Given the description of an element on the screen output the (x, y) to click on. 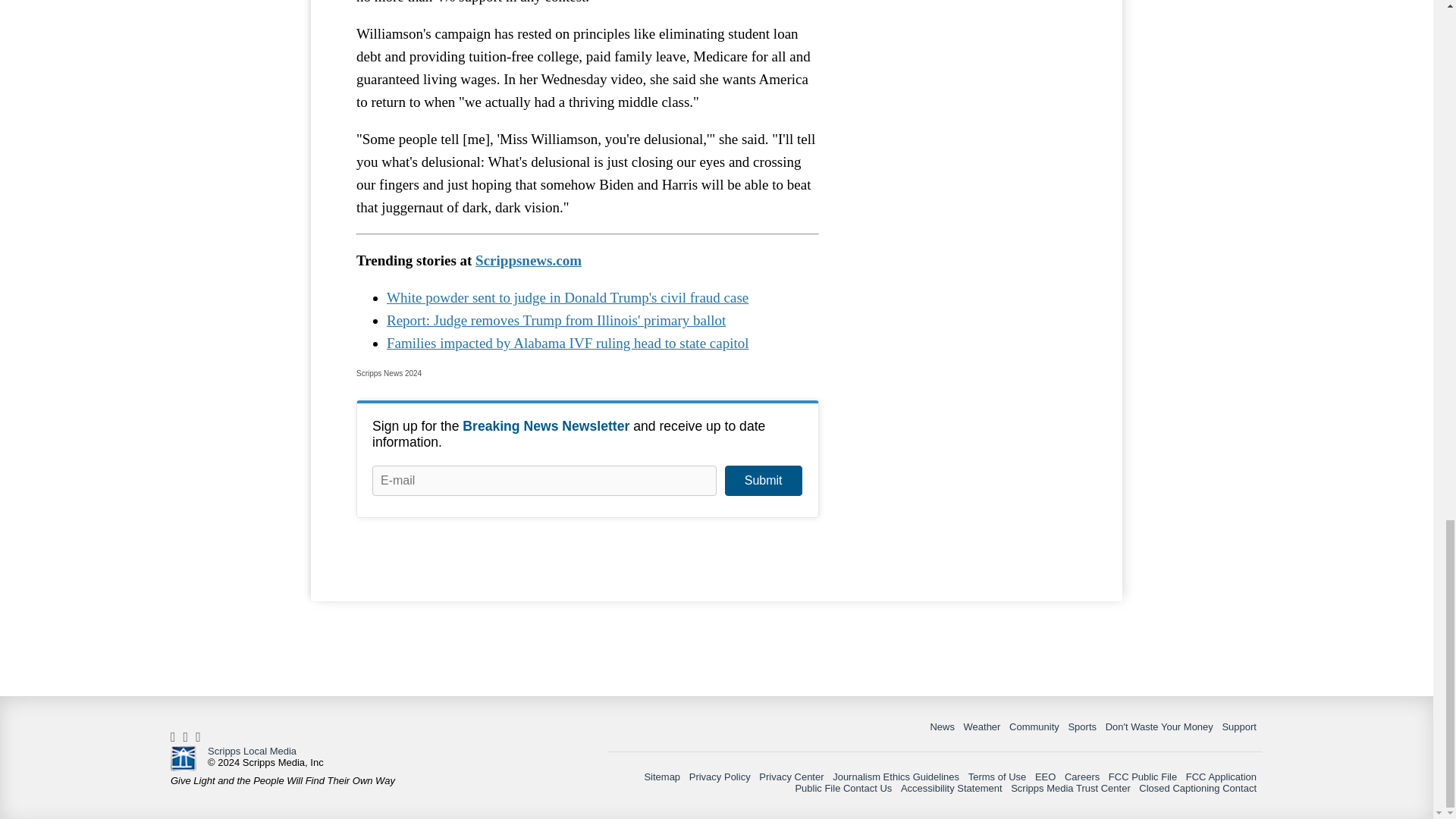
Submit (763, 481)
